Given the description of an element on the screen output the (x, y) to click on. 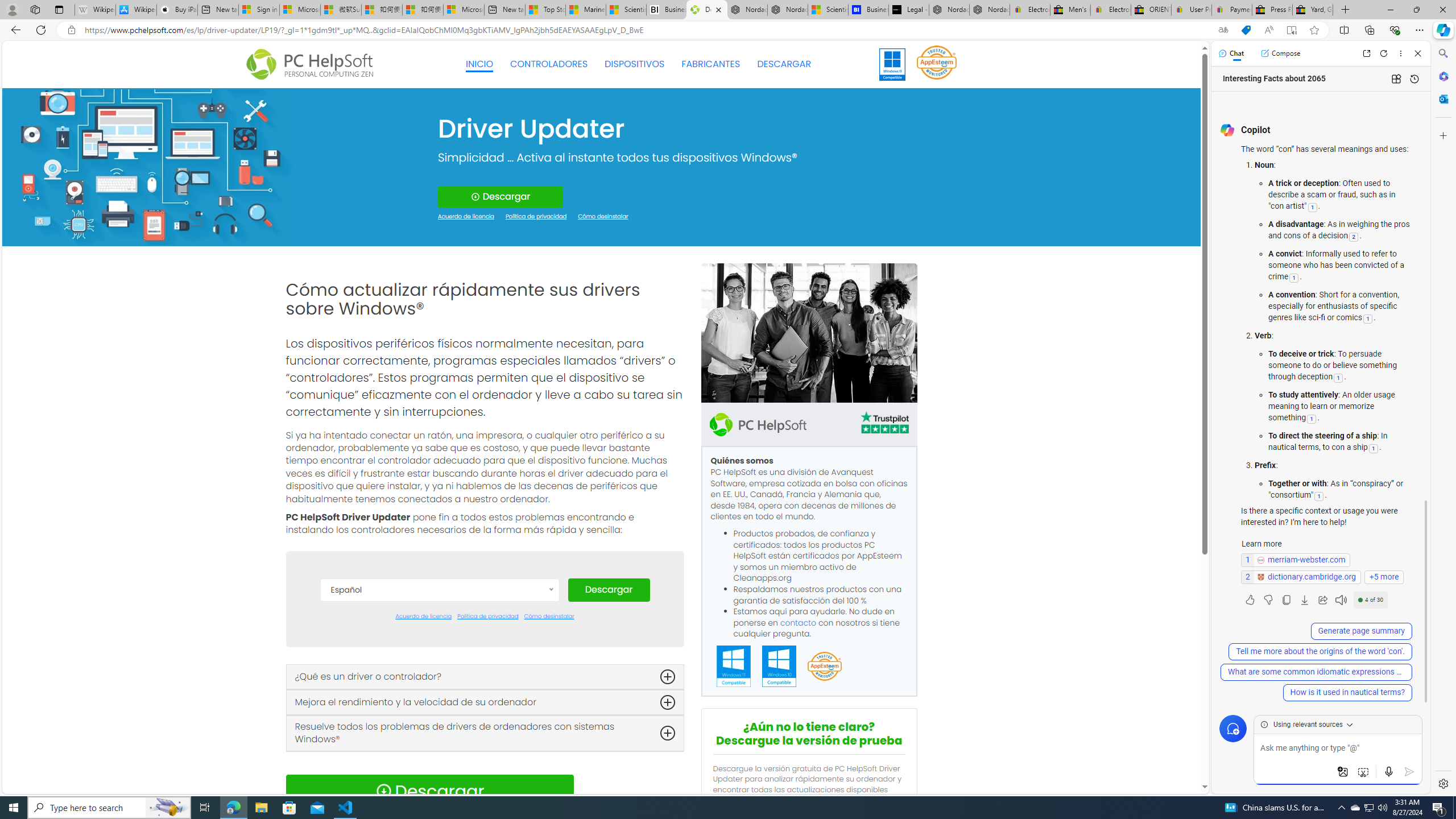
Microsoft account | Account Checkup (463, 9)
Dansk (439, 643)
CONTROLADORES (548, 64)
Yard, Garden & Outdoor Living (1312, 9)
Marine life - MSN (585, 9)
Generic (150, 166)
Acuerdo de licencia (423, 615)
DISPOSITIVOS (634, 64)
